Given the description of an element on the screen output the (x, y) to click on. 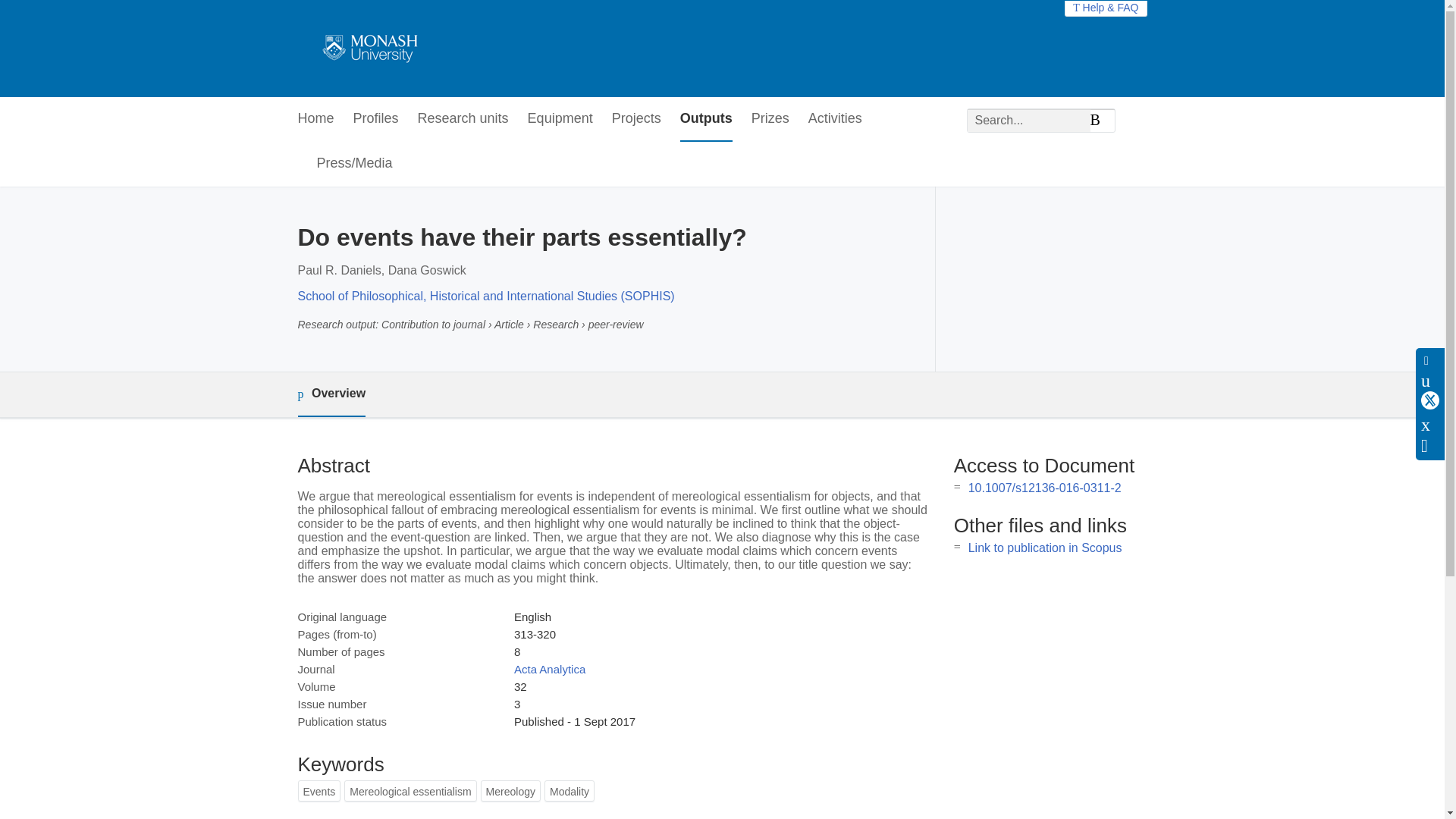
Outputs (705, 119)
Projects (636, 119)
Overview (331, 394)
Activities (834, 119)
Acta Analytica (549, 668)
Monash University Home (366, 48)
Profiles (375, 119)
Research units (462, 119)
Link to publication in Scopus (1045, 547)
